Given the description of an element on the screen output the (x, y) to click on. 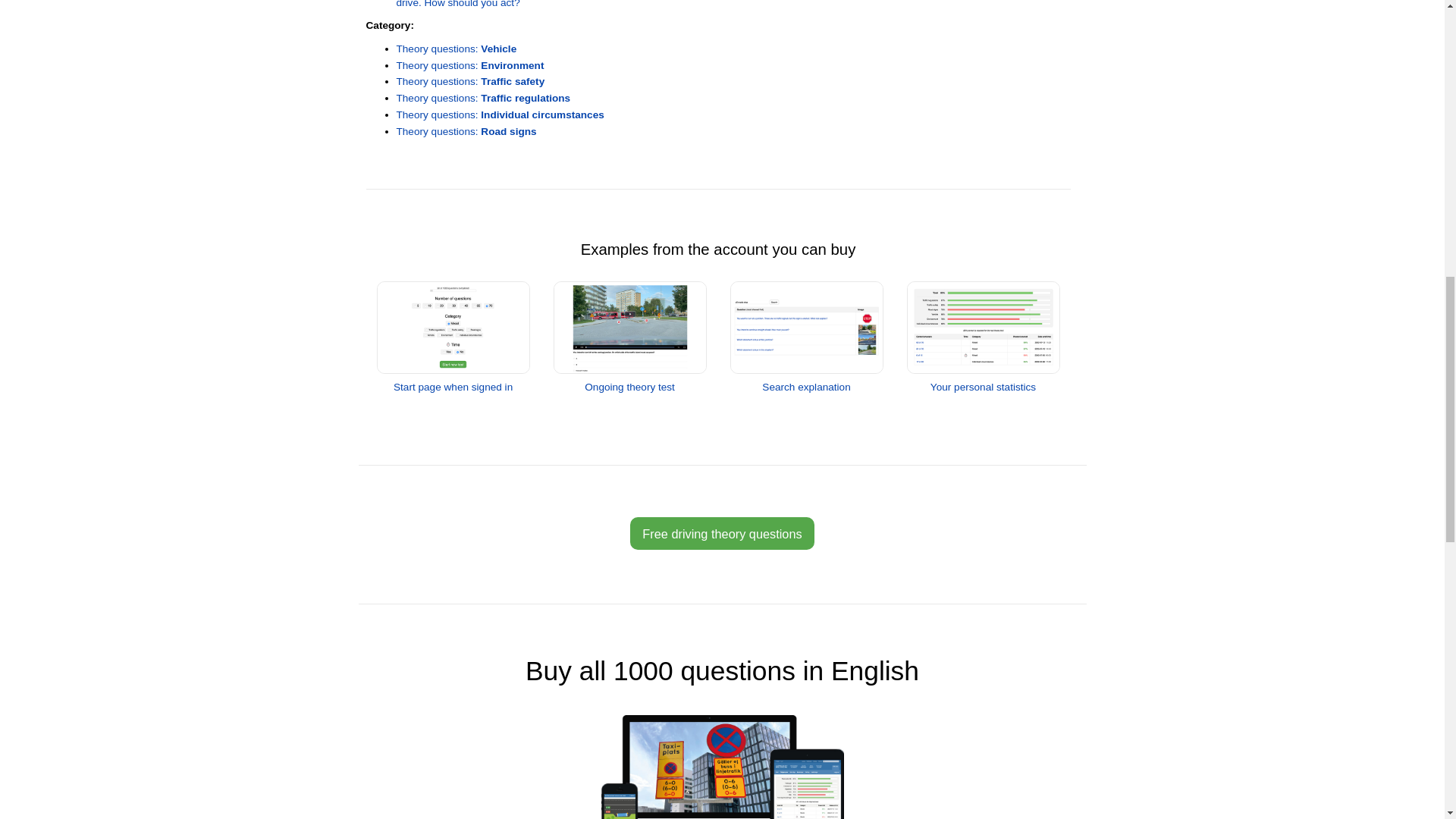
Theory questions: Individual circumstances (500, 114)
Start page when signed in (453, 381)
Free driving theory questions (721, 532)
Ongoing theory test (629, 381)
Theory questions: Road signs (465, 131)
Theory questions: Vehicle (456, 48)
Theory questions: Traffic regulations (483, 98)
Search explanation (806, 381)
Theory questions: Environment (469, 65)
Theory questions: Traffic safety (470, 81)
Your personal statistics (983, 381)
